Given the description of an element on the screen output the (x, y) to click on. 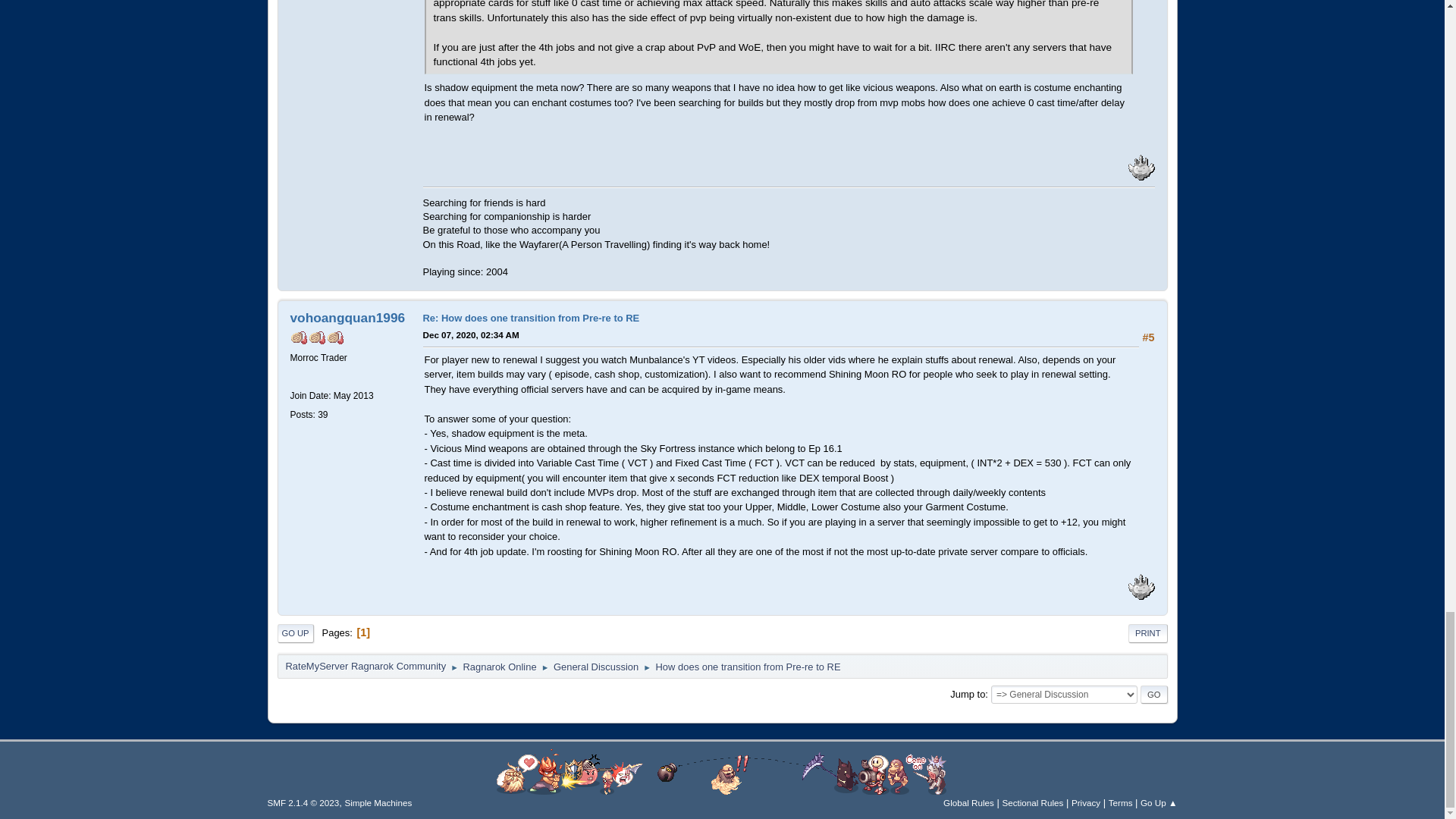
back to top (722, 771)
Go (1153, 694)
Simple Machines (377, 802)
License (302, 802)
View the profile of vohoangquan1996 (346, 317)
